Given the description of an element on the screen output the (x, y) to click on. 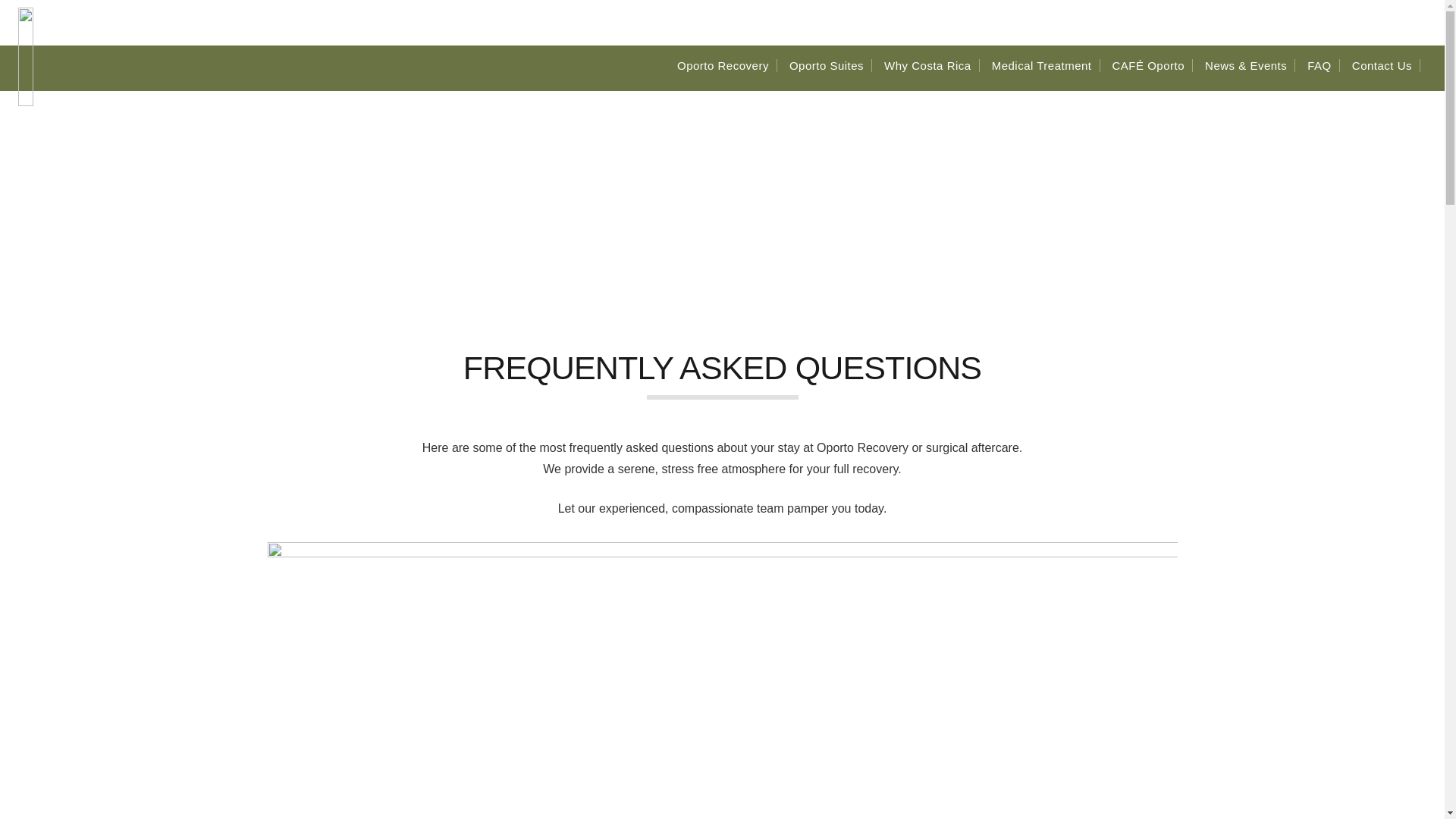
Home (637, 237)
Contact Us (1385, 66)
Oporto Recovery (727, 66)
Frequently Asked Questions (747, 237)
Medical Treatment (1045, 66)
Why Costa Rica (931, 66)
FAQ (1323, 66)
Oporto Suites (830, 66)
